Given the description of an element on the screen output the (x, y) to click on. 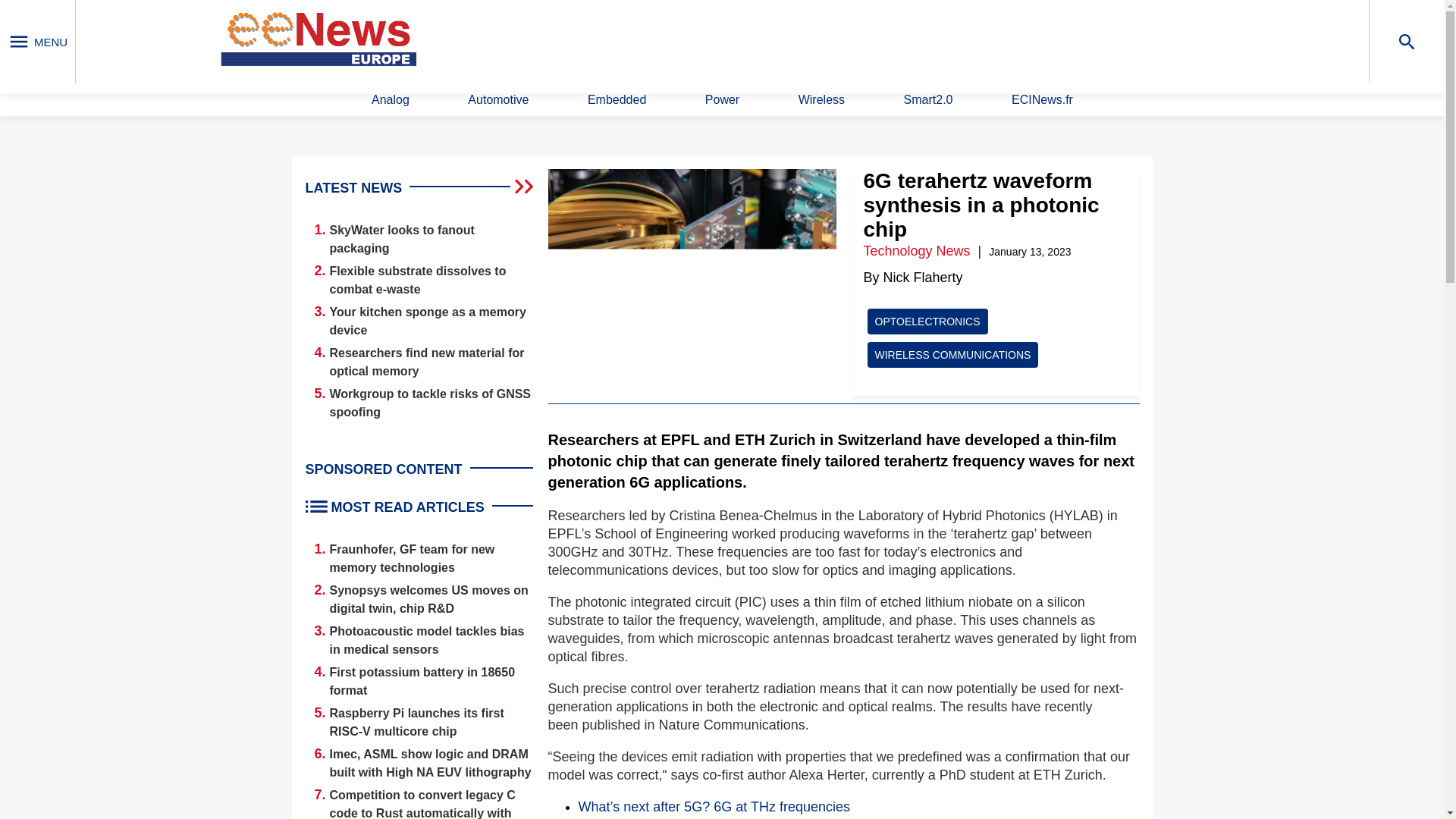
Search (949, 40)
Analog (390, 99)
Power (721, 99)
Embedded (617, 99)
Wireless (820, 99)
Automotive (497, 99)
Smart2.0 (928, 99)
ECINews.fr (1042, 99)
